Given the description of an element on the screen output the (x, y) to click on. 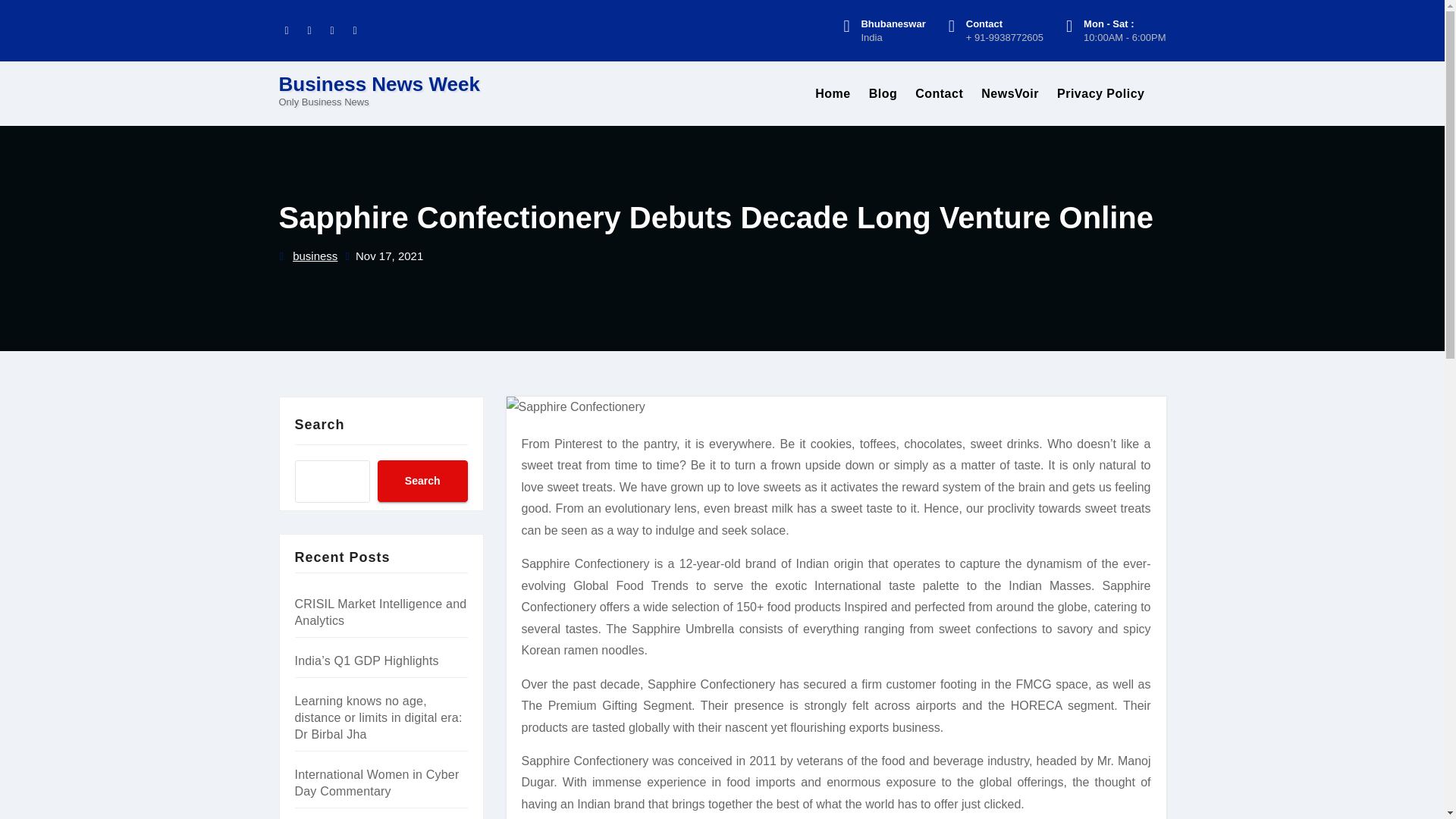
Home (832, 93)
Business News Week (379, 83)
Contact (938, 93)
CRISIL Market Intelligence and Analytics (379, 612)
Privacy Policy (1101, 93)
business (314, 256)
Search (422, 481)
Home (832, 93)
Blog (883, 93)
